Given the description of an element on the screen output the (x, y) to click on. 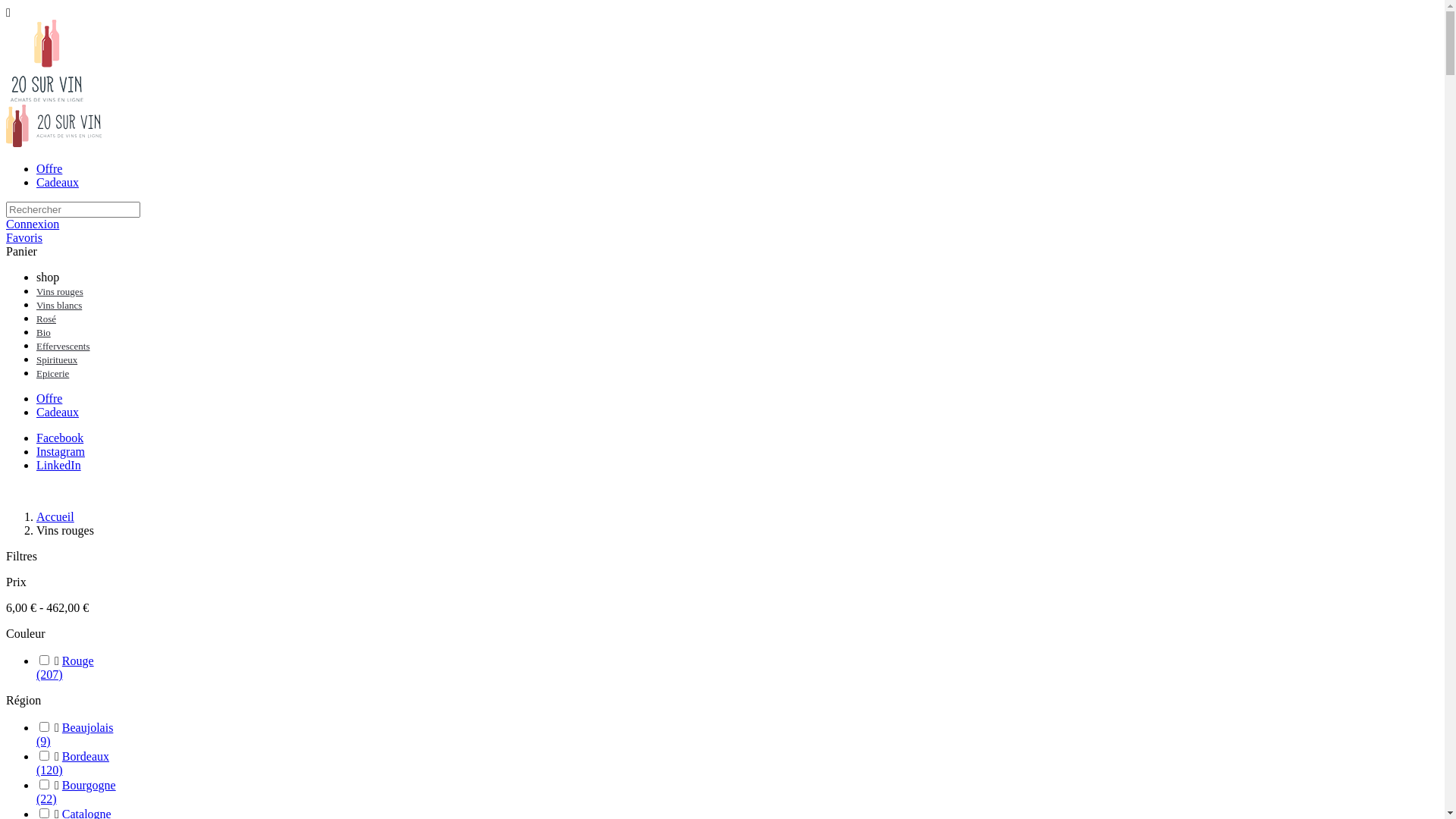
Vins rouges Element type: text (59, 291)
Beaujolais
(9) Element type: text (737, 734)
Offre Element type: text (49, 168)
Effervescents Element type: text (63, 345)
Bio Element type: text (43, 332)
Instagram Element type: text (60, 451)
LinkedIn Element type: text (58, 464)
Connexion Element type: text (32, 223)
Offre Element type: text (49, 398)
Facebook Element type: text (59, 437)
Favoris Element type: text (24, 237)
Bordeaux
(120) Element type: text (737, 763)
Spiritueux Element type: text (56, 359)
Vins blancs Element type: text (58, 304)
Rouge
(207) Element type: text (737, 667)
Bourgogne
(22) Element type: text (737, 792)
Epicerie Element type: text (52, 373)
Cadeaux Element type: text (57, 411)
Accueil Element type: text (55, 516)
Cadeaux Element type: text (57, 181)
